Given the description of an element on the screen output the (x, y) to click on. 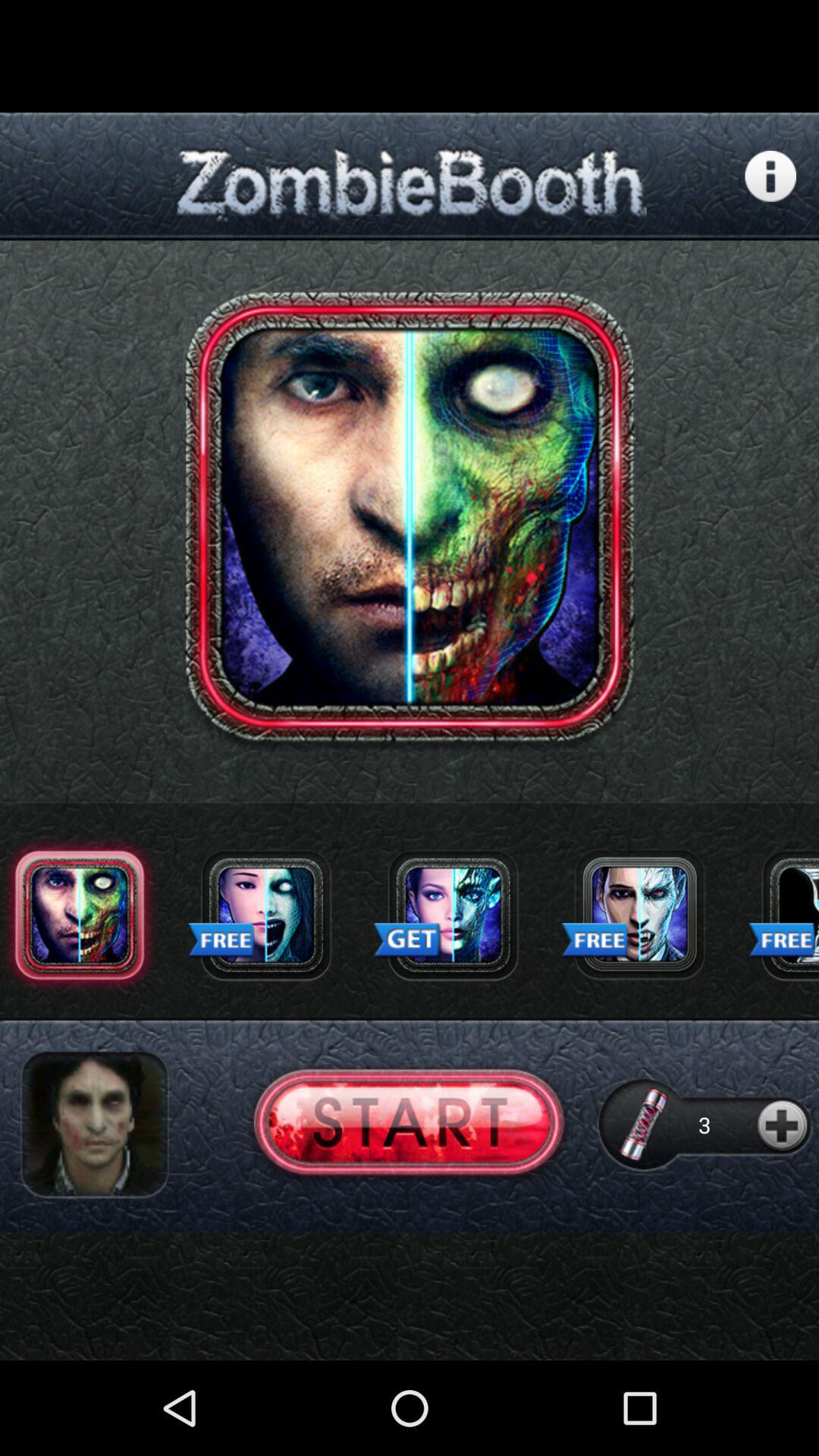
click icon to make photo into zombie (639, 914)
